Given the description of an element on the screen output the (x, y) to click on. 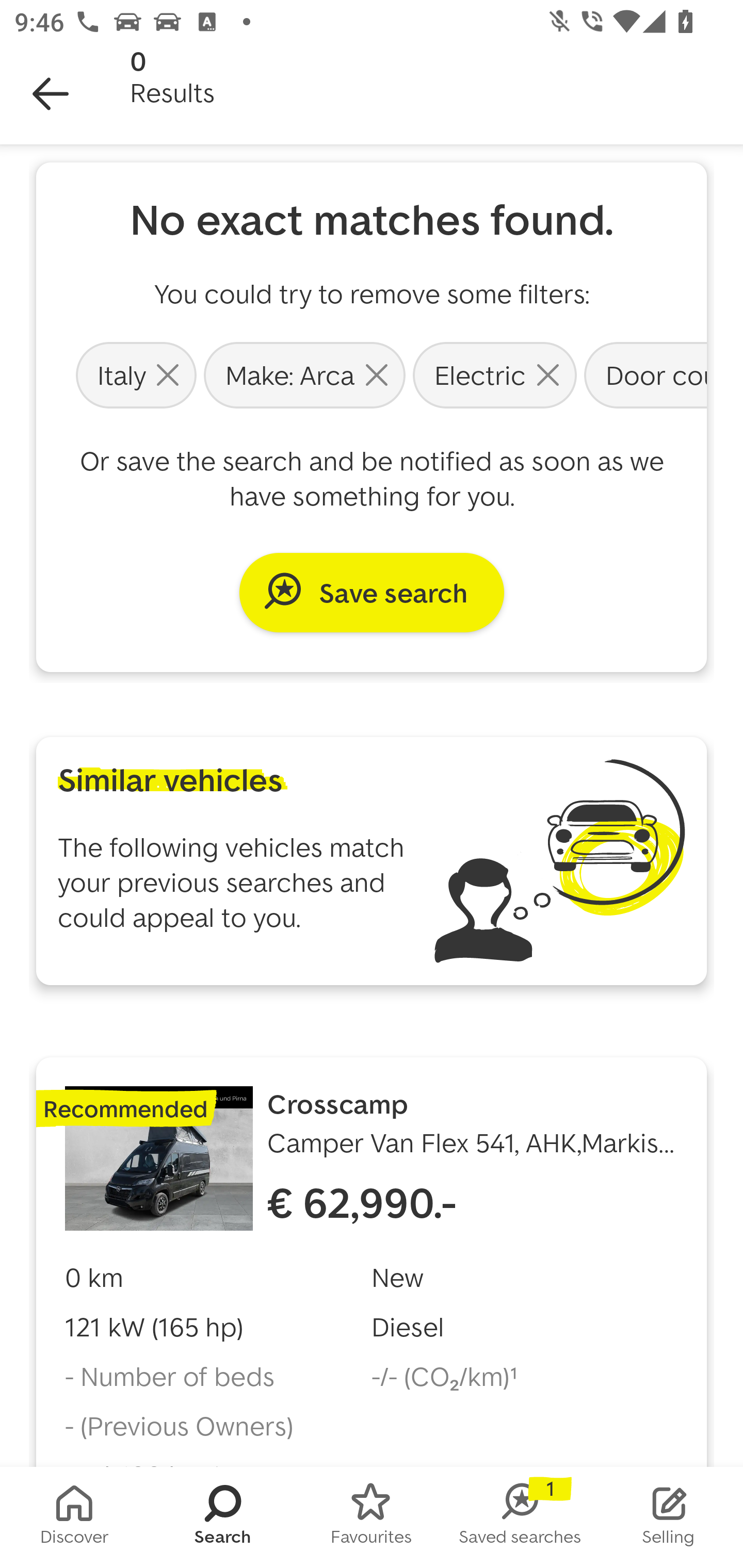
Navigate up (50, 93)
Italy (135, 374)
Make: Arca (304, 374)
Electric (494, 374)
Door count: from 6 to 7 (643, 374)
Save search (371, 592)
HOMESCREEN Discover (74, 1517)
SEARCH Search (222, 1517)
FAVORITES Favourites (371, 1517)
SAVED_SEARCHES Saved searches 1 (519, 1517)
STOCK_LIST Selling (668, 1517)
